Given the description of an element on the screen output the (x, y) to click on. 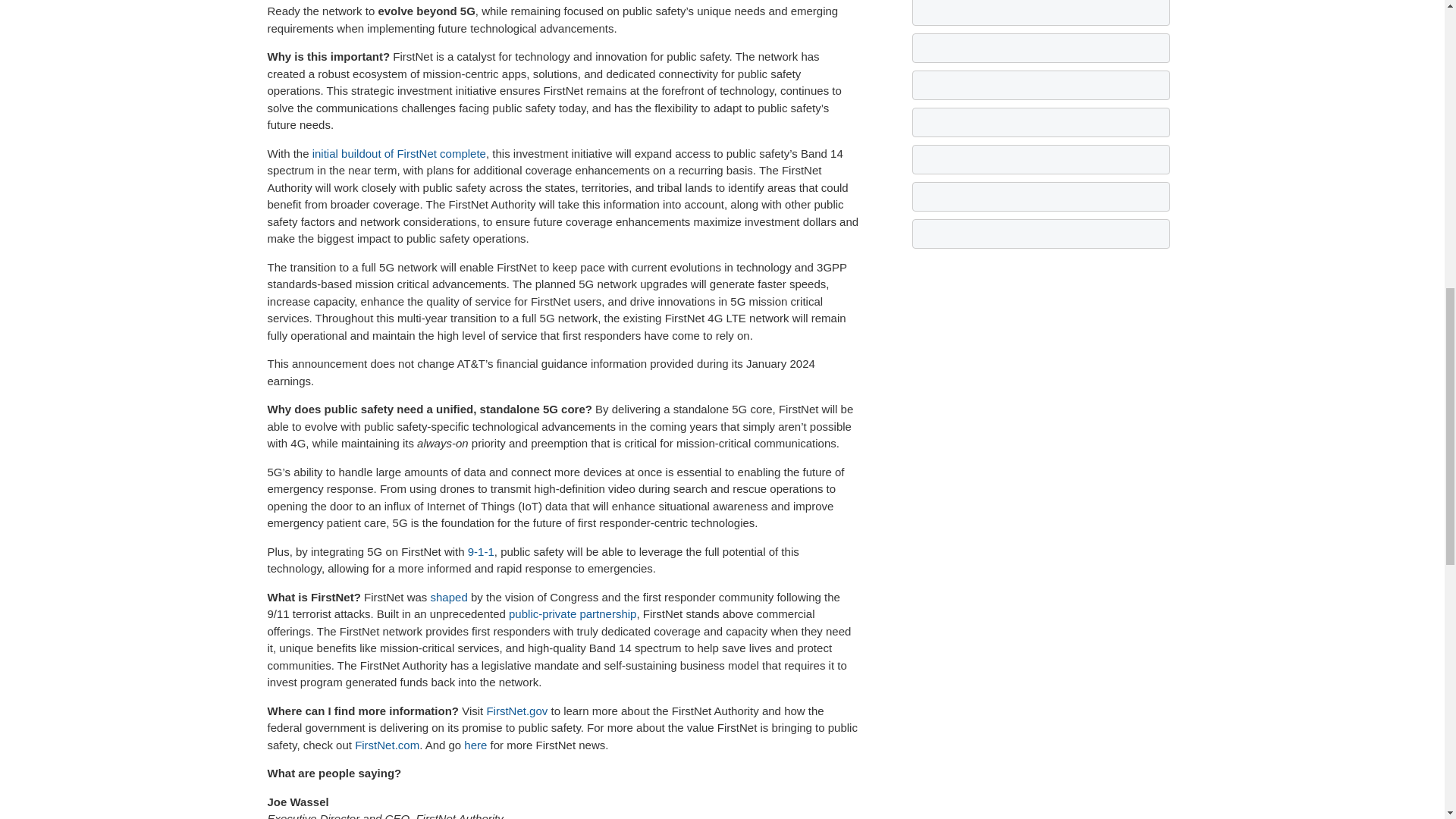
public-private partnership (572, 613)
9-1-1 (481, 551)
here (475, 744)
shaped (448, 596)
FirstNet.com (387, 744)
initial buildout of FirstNet complete (399, 153)
FirstNet.gov (516, 710)
